Given the description of an element on the screen output the (x, y) to click on. 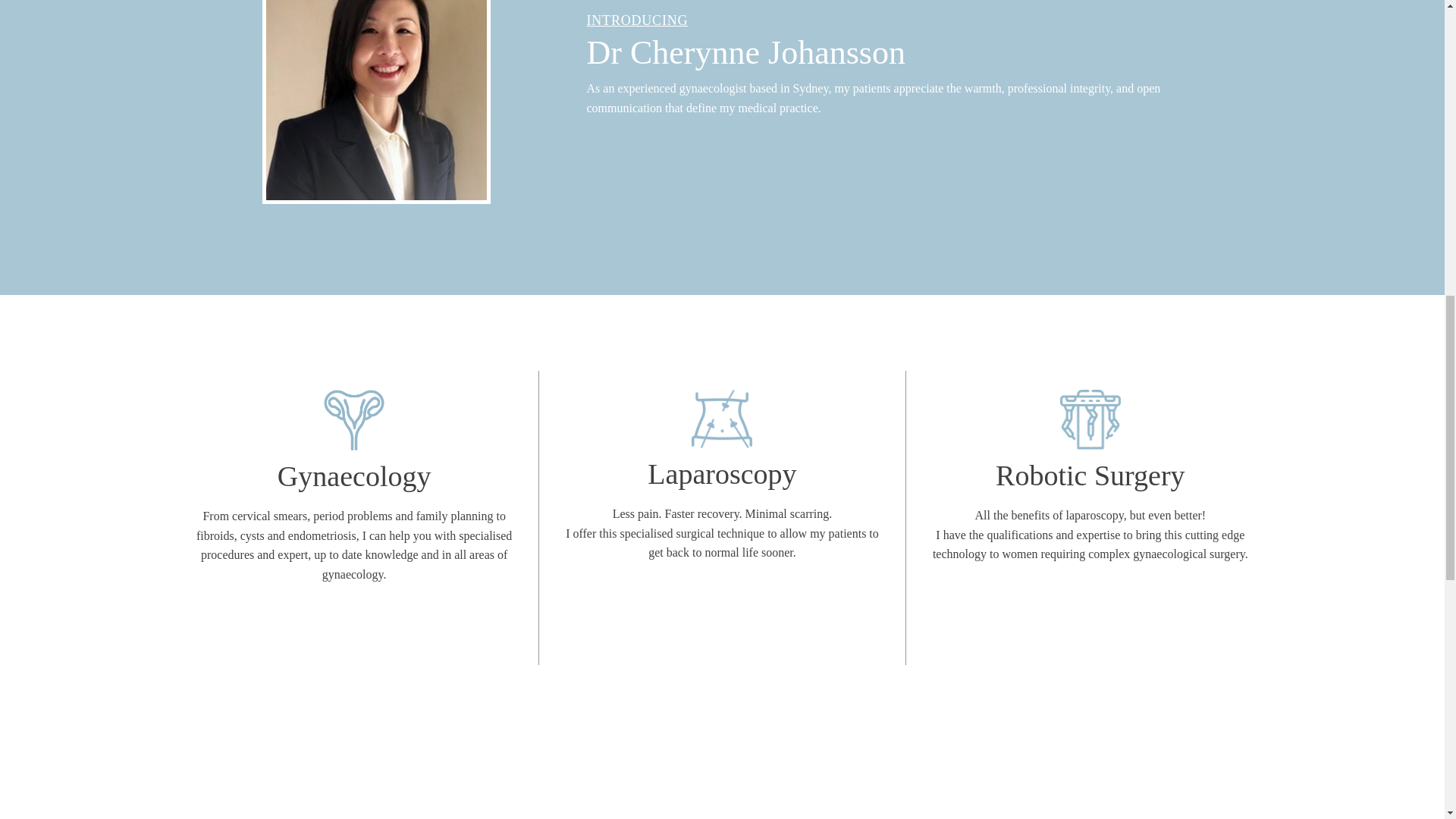
Dr-Cherynne-Johansson (376, 99)
